Given the description of an element on the screen output the (x, y) to click on. 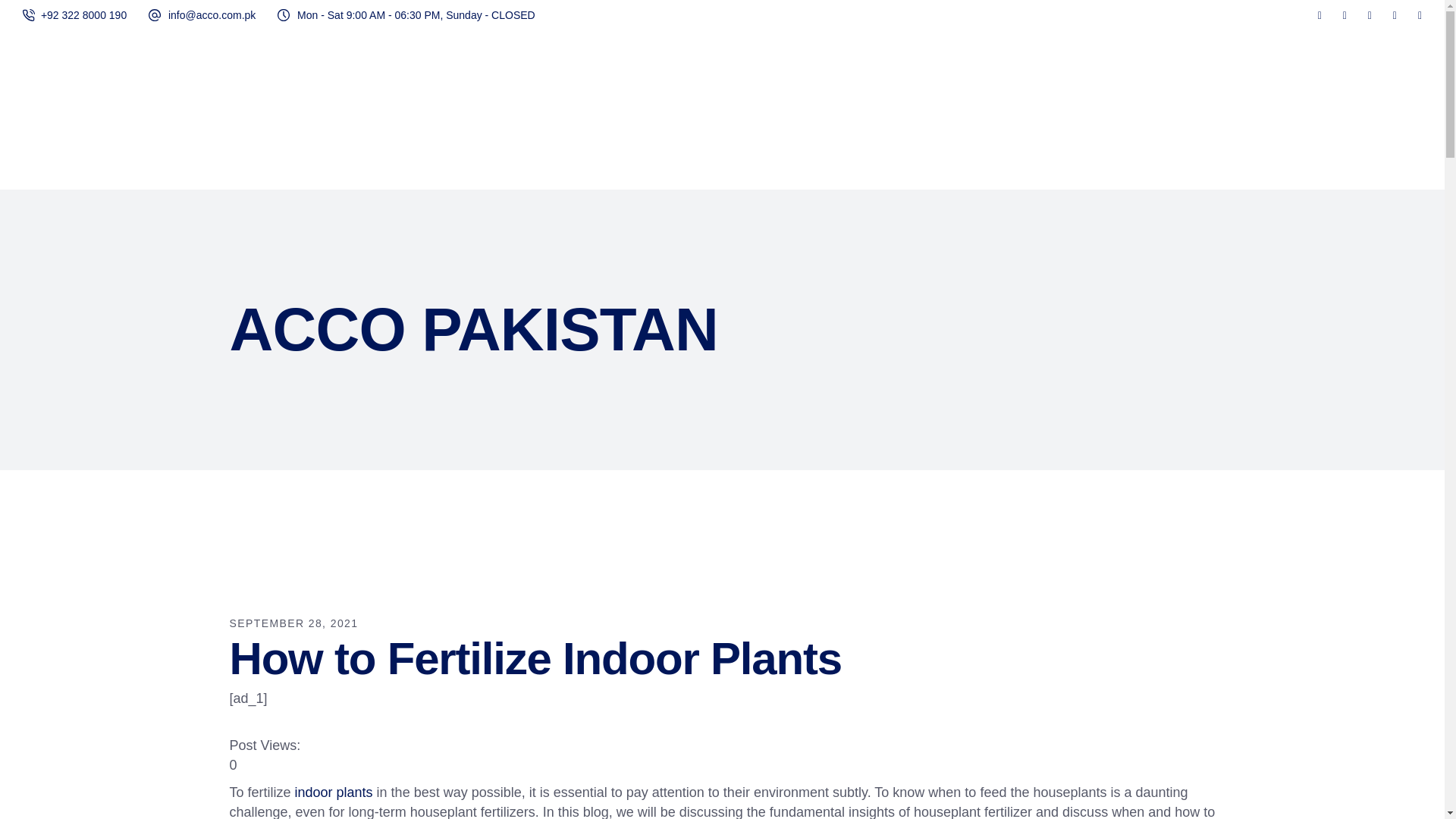
Mon - Sat 9:00 AM - 06:30 PM, Sunday - CLOSED (416, 15)
